Given the description of an element on the screen output the (x, y) to click on. 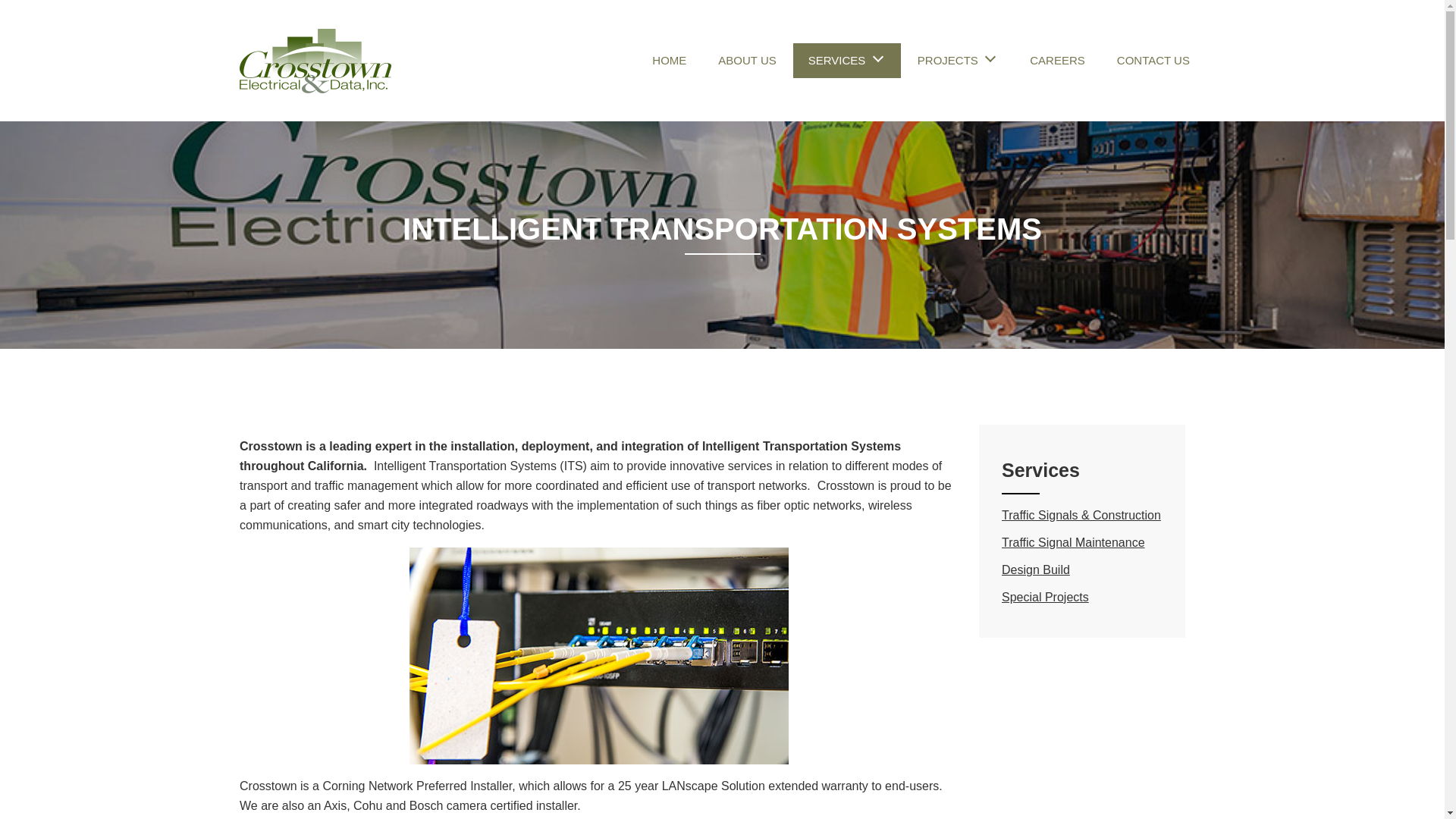
HOME (668, 60)
Crosstown (315, 60)
CONTACT US (1152, 60)
ABOUT US (746, 60)
CAREERS (1056, 60)
SERVICES (837, 60)
PROJECTS (947, 60)
